Given the description of an element on the screen output the (x, y) to click on. 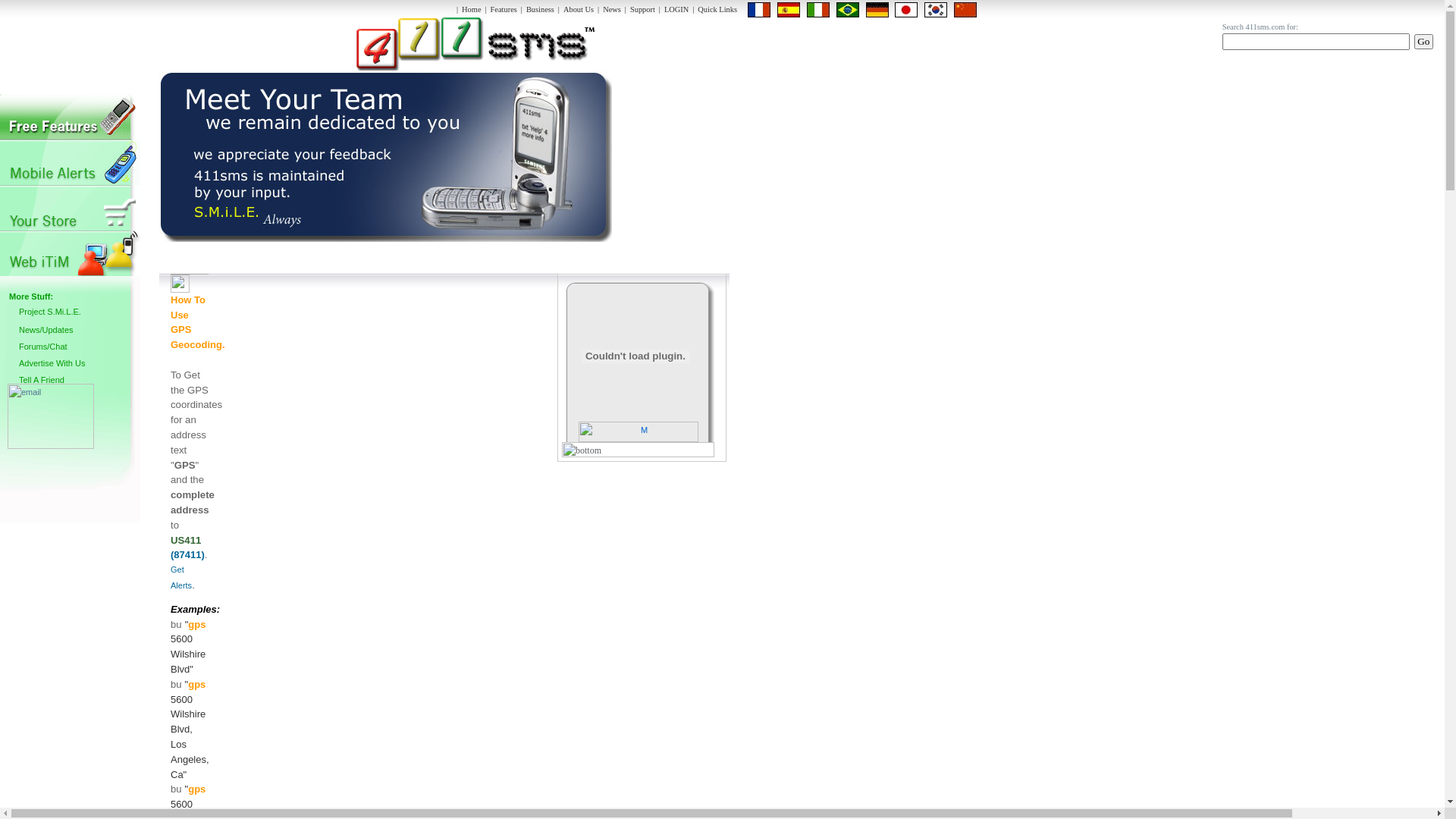
Business Element type: text (540, 8)
en|pt Element type: text (847, 9)
en|zh-CN Element type: text (964, 9)
Get Alerts Element type: text (180, 576)
en|de Element type: text (877, 9)
Quick Links Element type: text (717, 8)
en|ko Element type: text (935, 9)
en|es Element type: text (788, 9)
en|fr Element type: text (758, 9)
Social Networks Mobile Element type: hover (70, 207)
Advertisers Element type: hover (70, 253)
en|ja Element type: text (905, 9)
en|it Element type: text (817, 9)
MVNO Solutions Element type: hover (70, 116)
Home Element type: text (470, 8)
Features Element type: text (503, 8)
Forums/Chat Element type: text (80, 347)
Tell A Friend Element type: text (80, 381)
LOGIN Element type: text (676, 8)
Entertainment Solutions Element type: hover (70, 162)
Italiano/Italian Element type: hover (817, 9)
Go Element type: text (1423, 41)
News/Updates Element type: text (80, 331)
Advertise With Us Element type: text (80, 364)
Project S.Mi.L.E. Element type: text (80, 312)
About Us Element type: text (578, 8)
Deutsch/German Element type: hover (877, 9)
Support Element type: text (642, 8)
News Element type: text (611, 8)
